Given the description of an element on the screen output the (x, y) to click on. 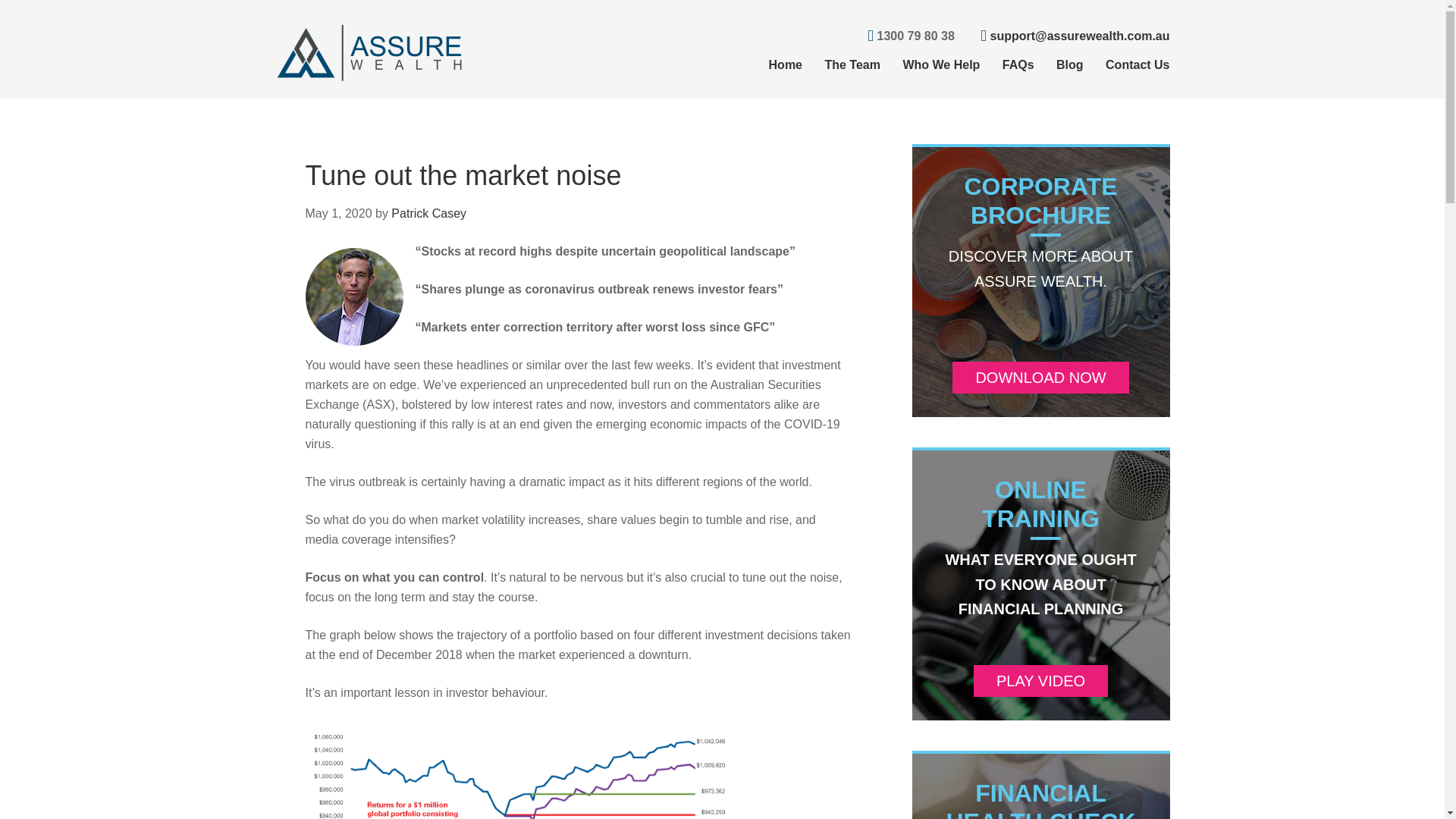
ASSURE WEALTH (369, 52)
PLAY VIDEO (1041, 680)
Patrick Casey (428, 213)
Contact Us (1127, 65)
The Team (842, 65)
Who We Help (931, 65)
DOWNLOAD NOW (1040, 377)
FAQs (1008, 65)
Blog (1059, 65)
Home (775, 65)
